Given the description of an element on the screen output the (x, y) to click on. 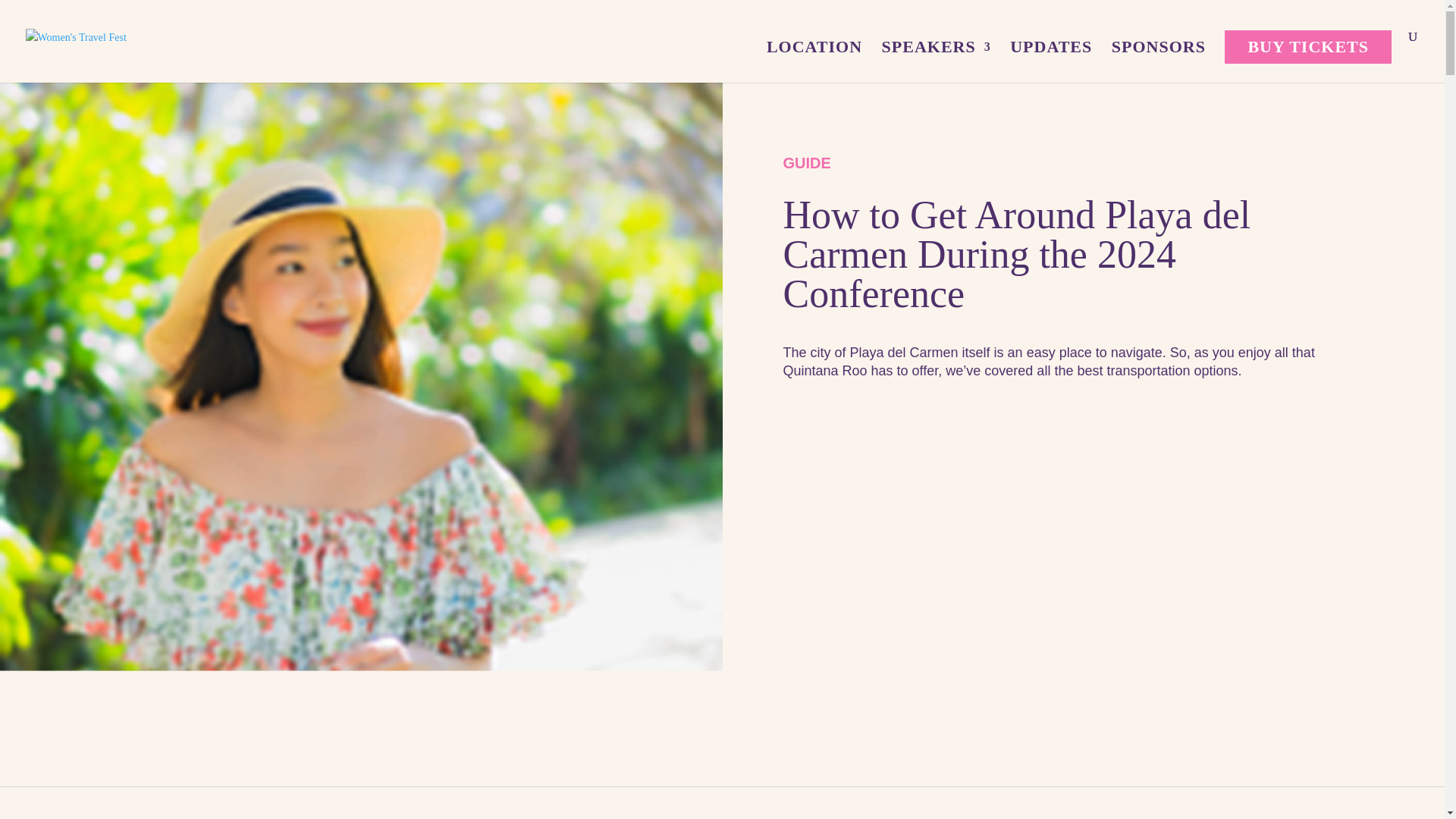
SPONSORS (1158, 61)
UPDATES (1051, 61)
LOCATION (814, 61)
SPEAKERS (936, 61)
BUY TICKETS (1307, 46)
GUIDE (806, 162)
